Given the description of an element on the screen output the (x, y) to click on. 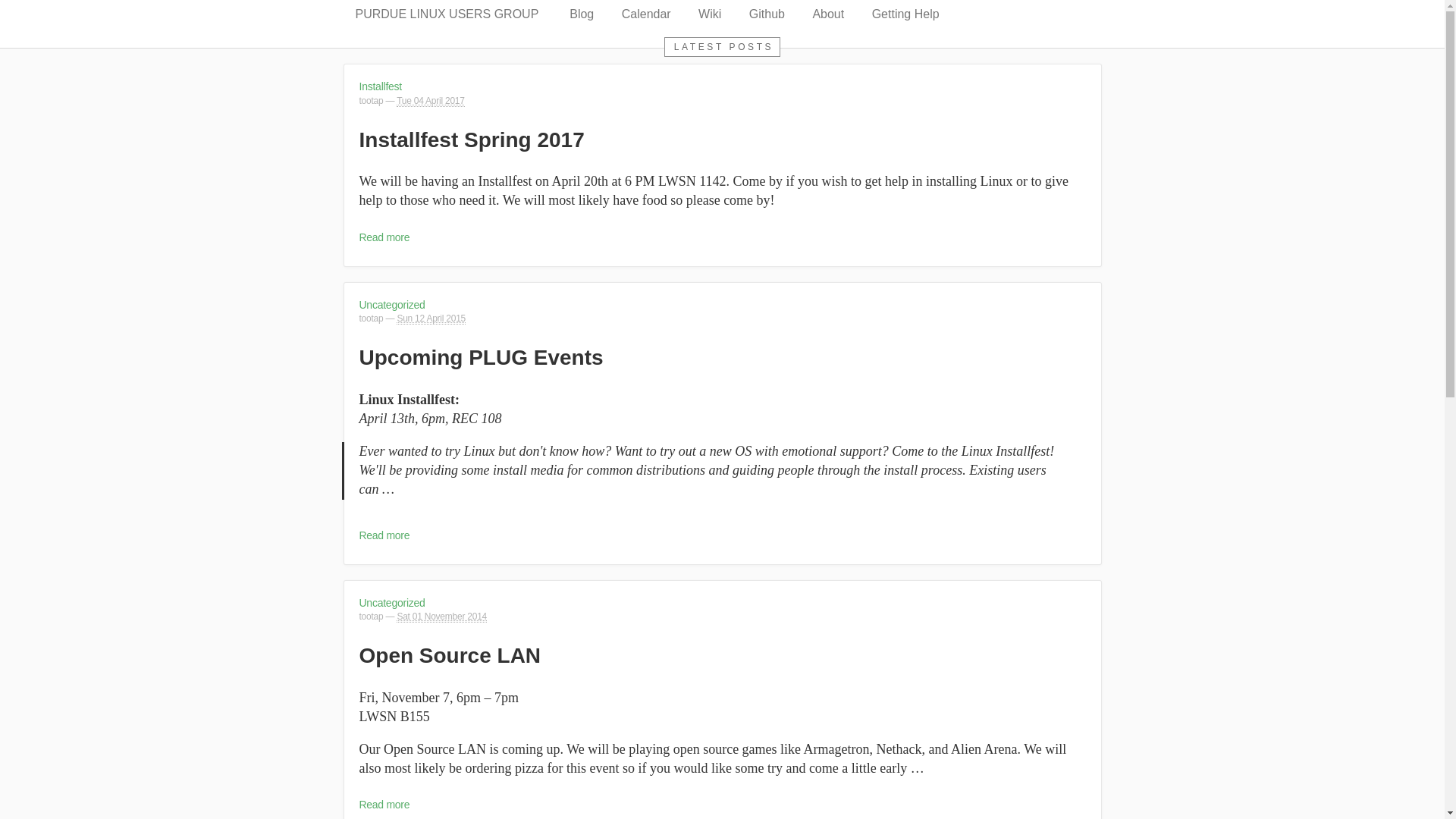
Read more (384, 804)
PURDUE LINUX USERS GROUP (446, 14)
Uncategorized (392, 603)
Permalink to Installfest Spring 2017 (472, 139)
About (827, 14)
Getting Help (906, 14)
Permalink to Open Source LAN (450, 655)
Blog (581, 14)
Github (766, 14)
tootap (371, 615)
tootap (371, 317)
Read more (384, 535)
Installfest Spring 2017 (472, 139)
Installfest (381, 86)
Upcoming PLUG Events (481, 357)
